Given the description of an element on the screen output the (x, y) to click on. 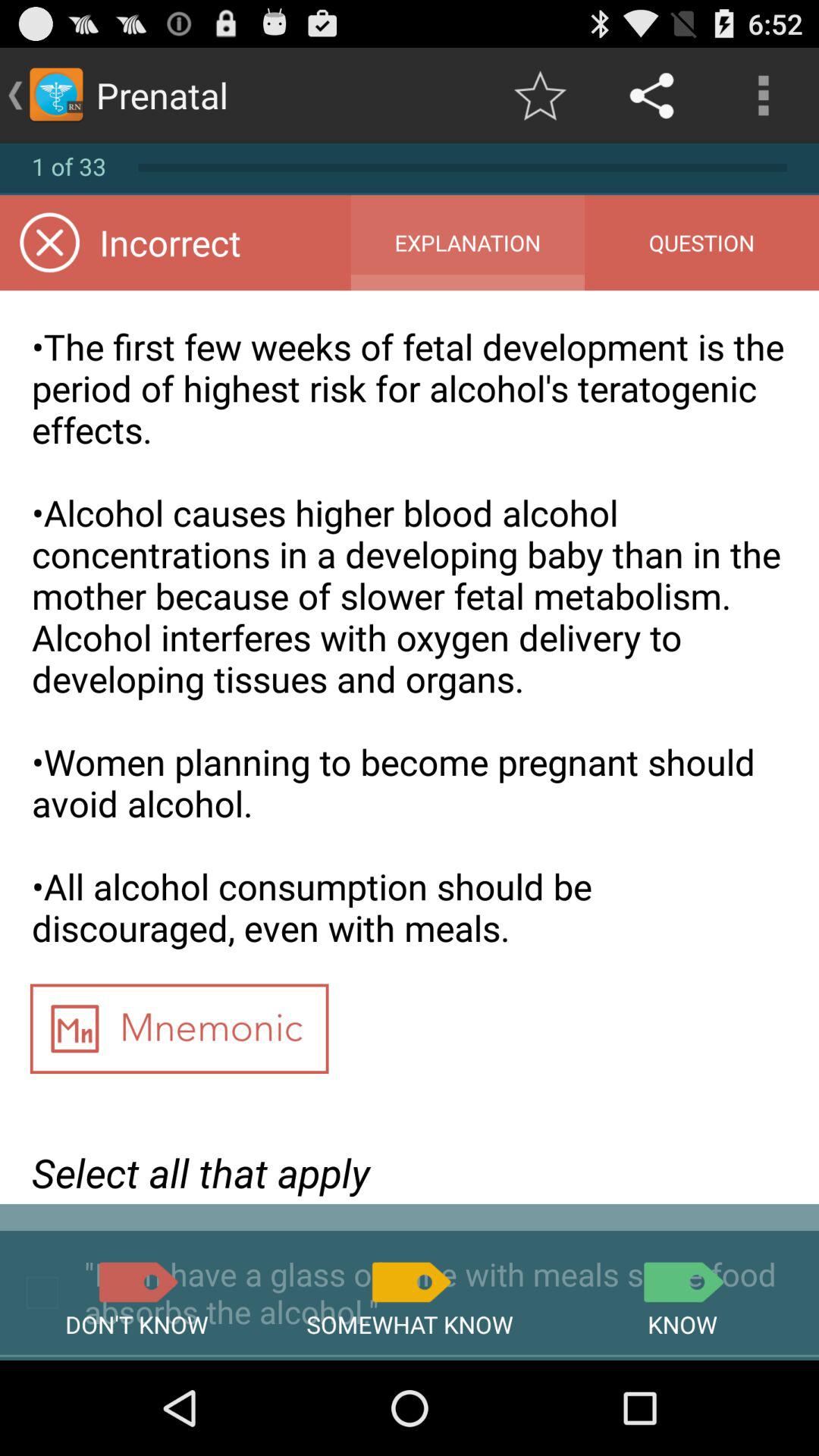
click the question (701, 242)
